Given the description of an element on the screen output the (x, y) to click on. 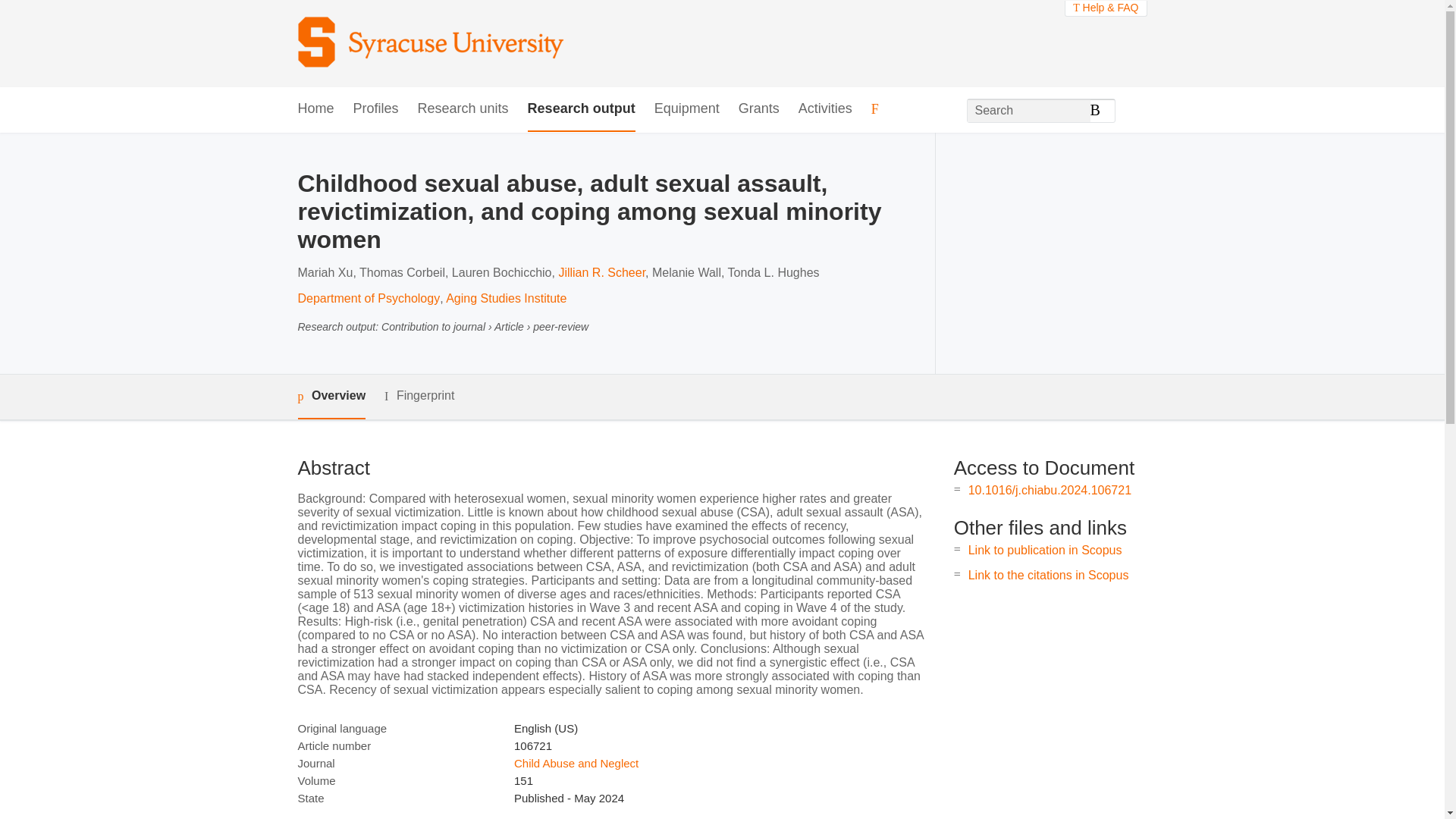
Link to the citations in Scopus (1048, 574)
Overview (331, 396)
Child Abuse and Neglect (576, 762)
Research output (580, 108)
Grants (758, 108)
Link to publication in Scopus (1045, 549)
Profiles (375, 108)
Jillian R. Scheer (601, 272)
Research units (462, 108)
Activities (824, 108)
Aging Studies Institute (505, 297)
Department of Psychology (368, 297)
Equipment (686, 108)
Fingerprint (419, 395)
